Given the description of an element on the screen output the (x, y) to click on. 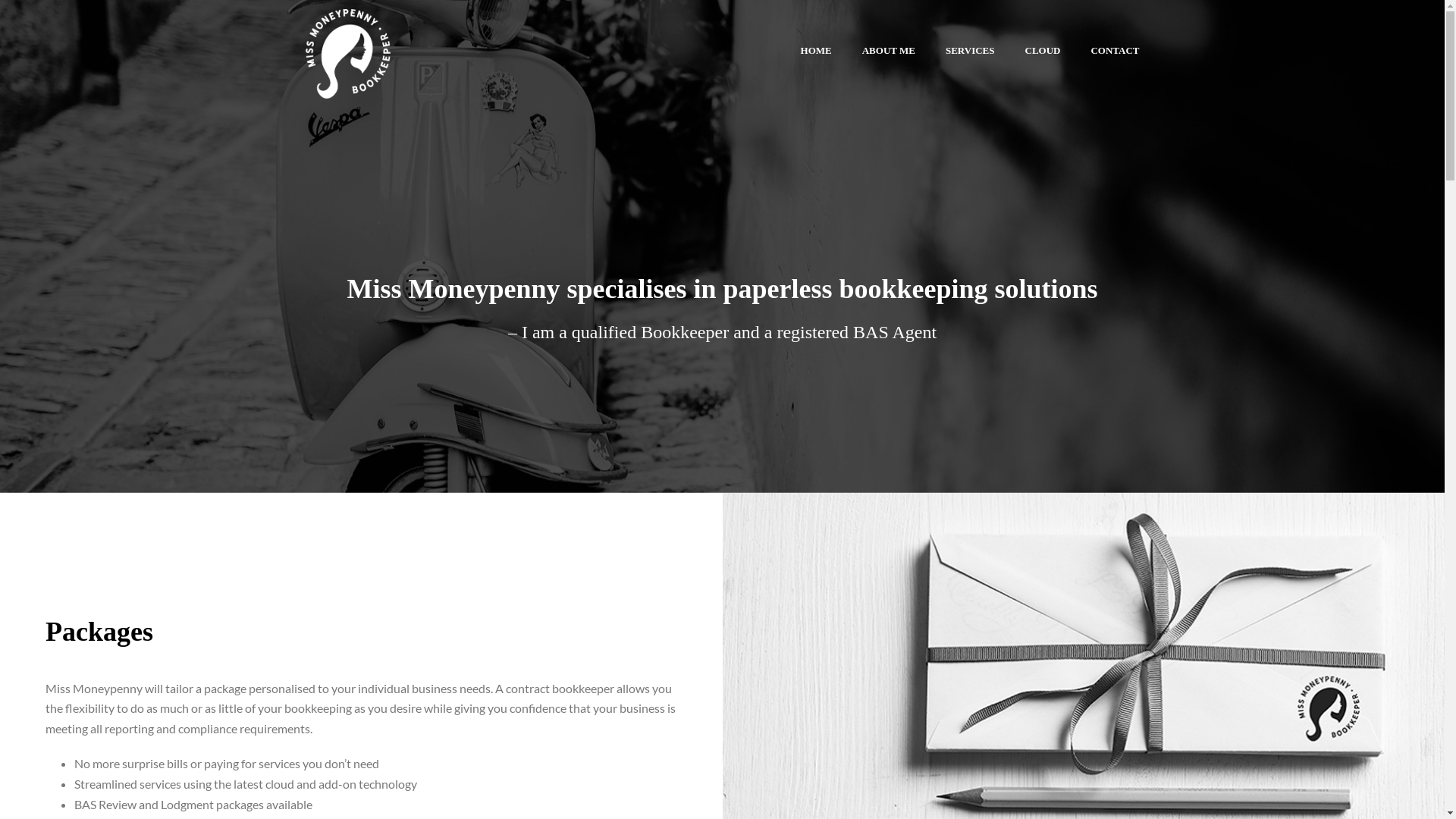
ABOUT ME Element type: text (888, 49)
Just another WordPress site Element type: hover (346, 49)
CONTACT Element type: text (1114, 49)
CLOUD Element type: text (1043, 49)
HOME Element type: text (816, 49)
SERVICES Element type: text (970, 49)
